Given the description of an element on the screen output the (x, y) to click on. 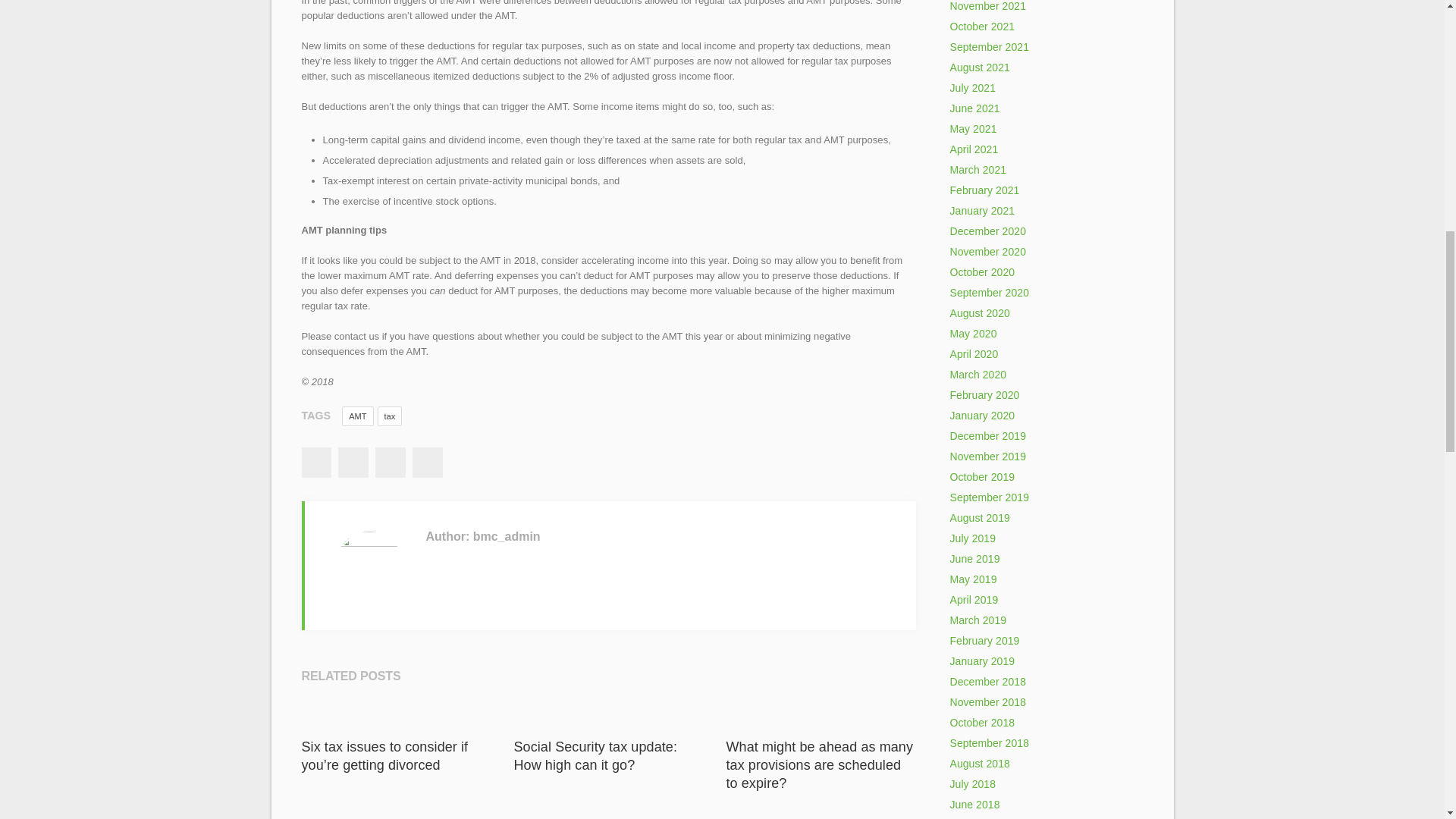
Facebook (314, 462)
Twitter (352, 462)
Pinterest (427, 462)
tax (390, 415)
AMT (357, 415)
